Given the description of an element on the screen output the (x, y) to click on. 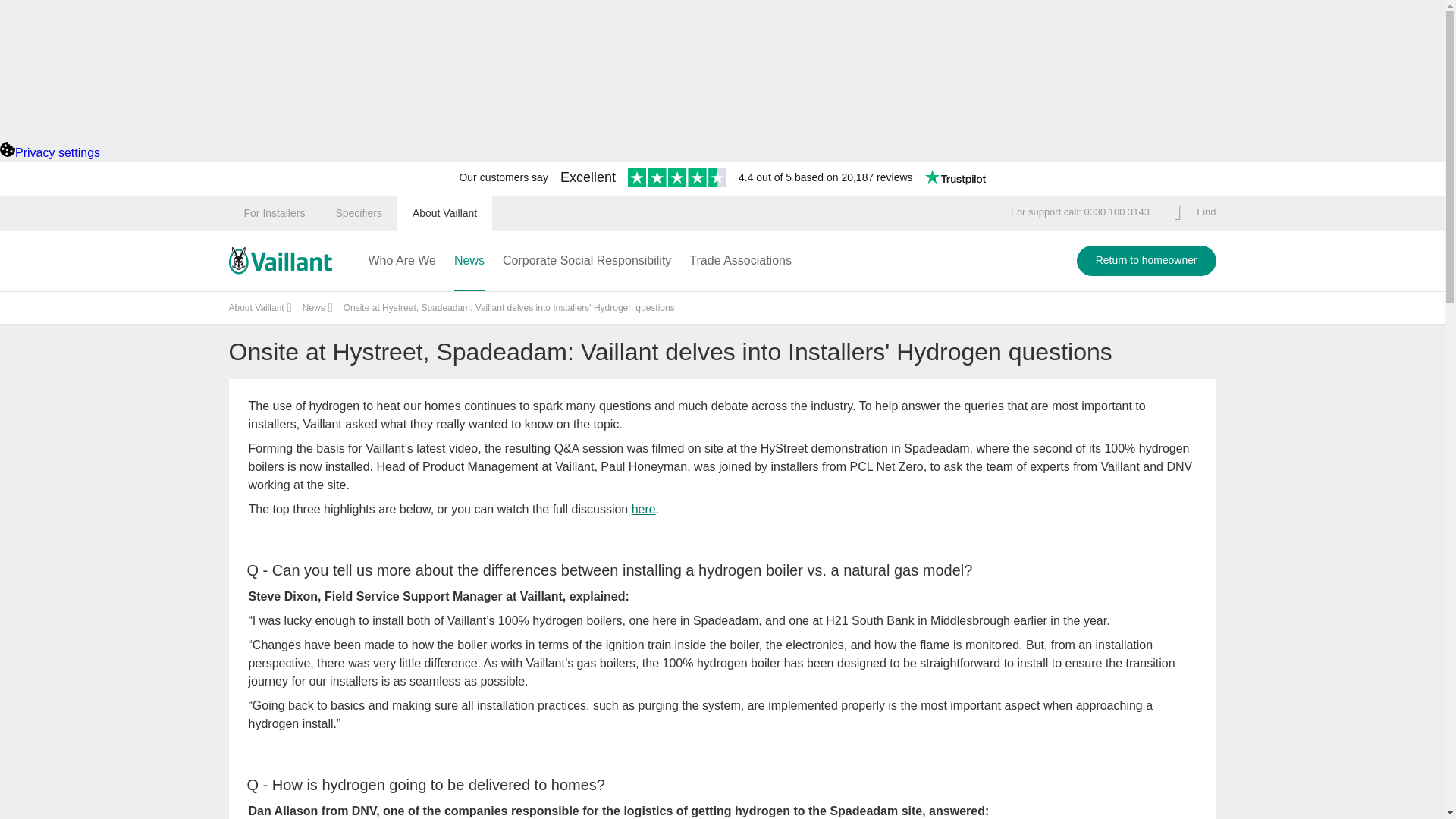
For Installers (274, 212)
Specifiers (358, 212)
News (313, 307)
Trade Associations (740, 260)
For support call: 0330 100 3143 (1080, 212)
Return to homeowner (1146, 260)
About Vaillant (444, 212)
Find (1194, 212)
H21 Hystreet: Discussing the use of hydrogen for heating (643, 508)
here (643, 508)
Vaillant (279, 260)
Corporate Social Responsibility (586, 260)
Who Are We (402, 260)
About Vaillant (255, 307)
